Given the description of an element on the screen output the (x, y) to click on. 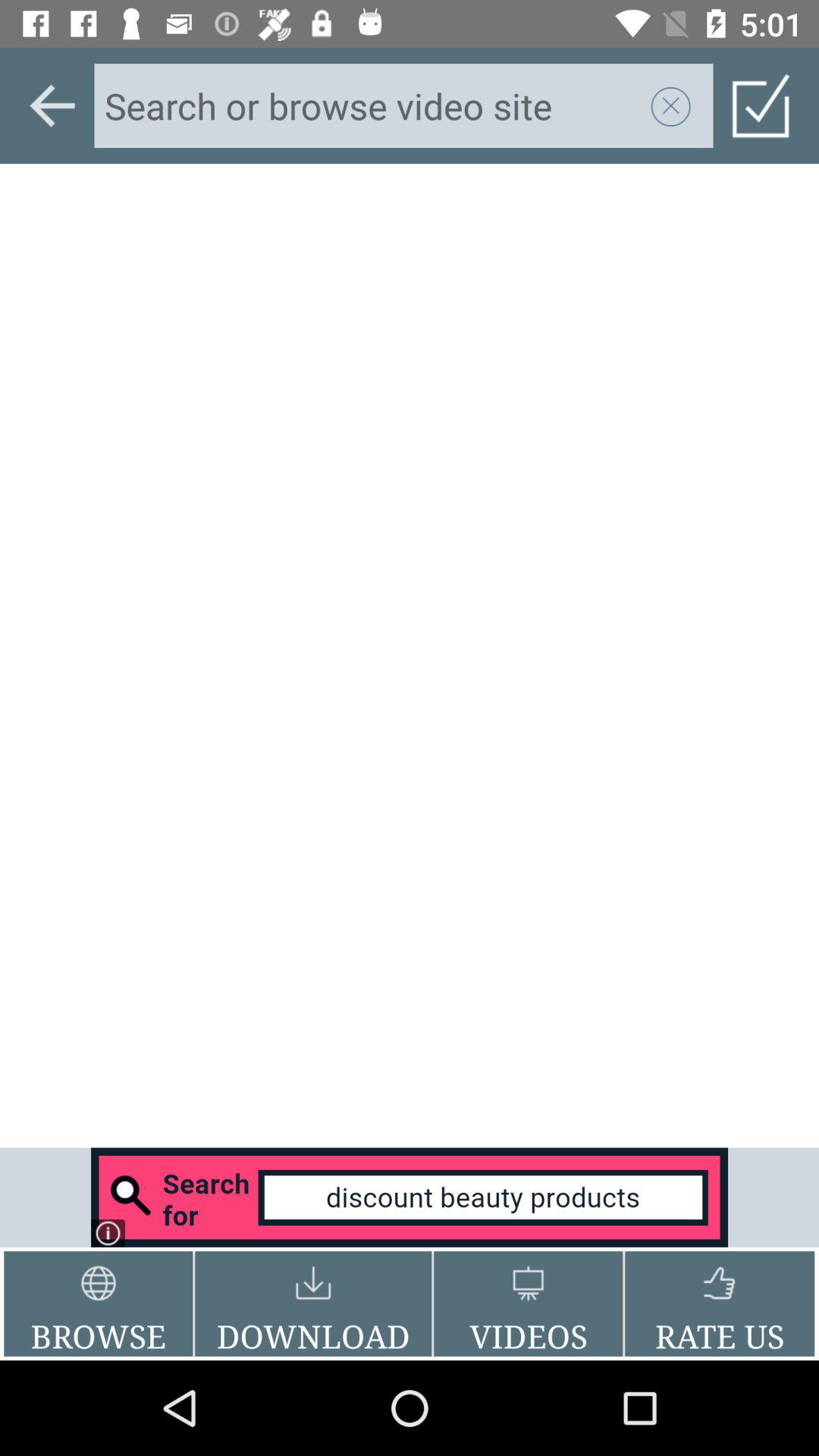
enter search topic (371, 105)
